Given the description of an element on the screen output the (x, y) to click on. 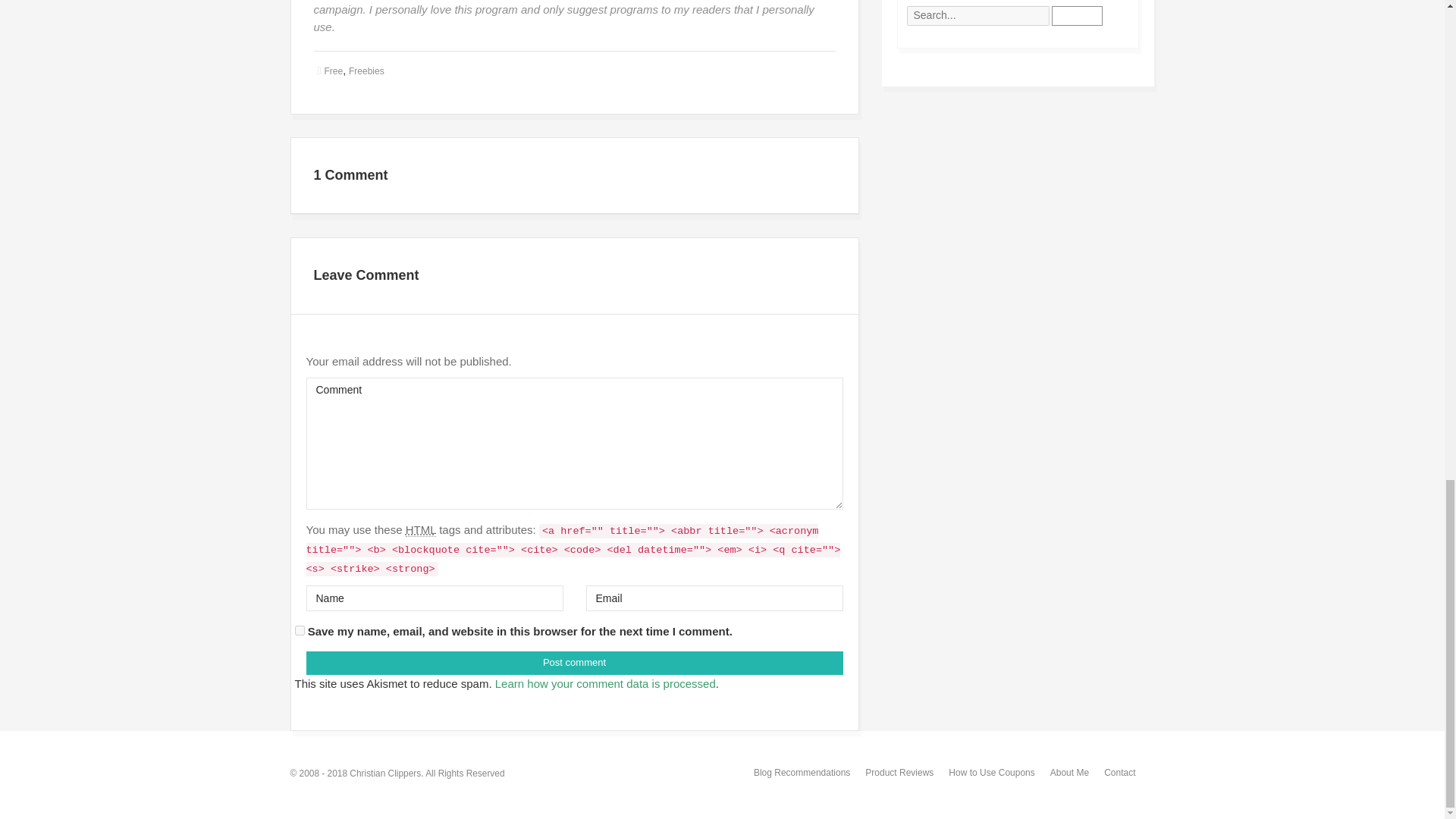
Post comment (574, 662)
yes (299, 630)
Search (1076, 15)
